Given the description of an element on the screen output the (x, y) to click on. 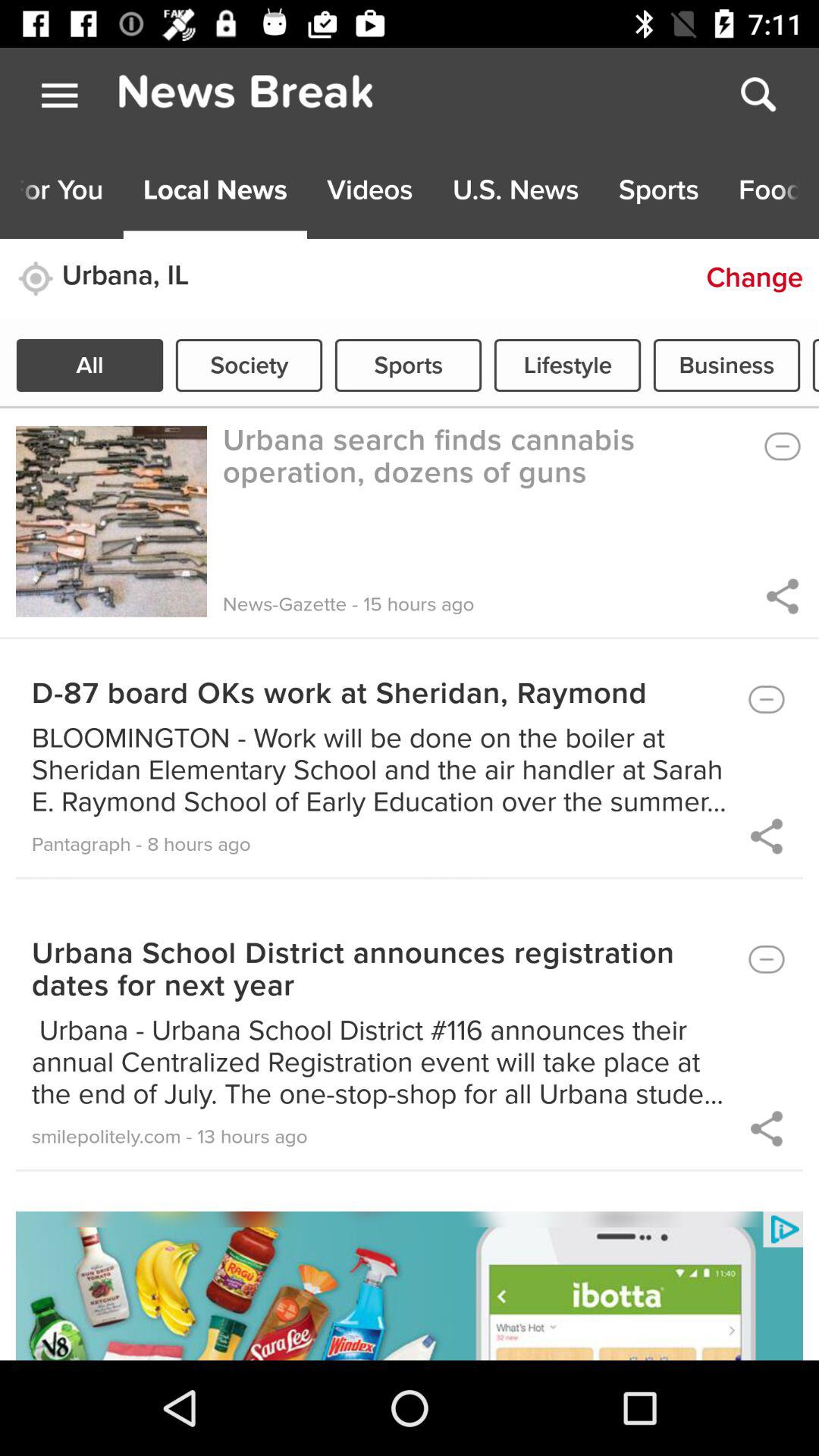
click on button all (89, 365)
click on the button beside food (658, 190)
click on the first image under all button (111, 521)
select the section button which is left to videos (215, 190)
click the first share button on the web page (780, 596)
click on the third button on the top menu bar (370, 190)
click on the minus button which is below the business (780, 446)
